Given the description of an element on the screen output the (x, y) to click on. 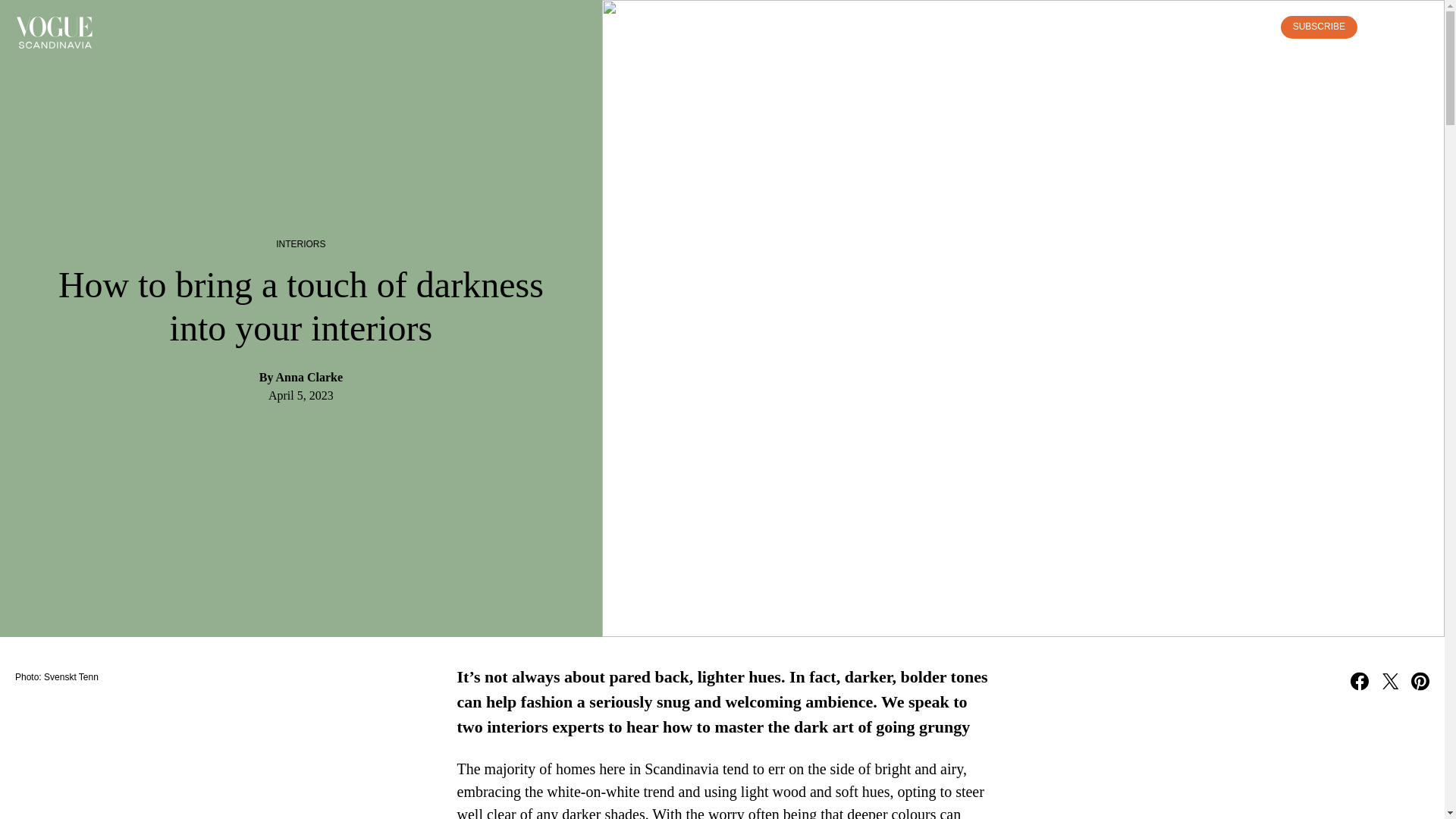
SUBSCRIBE (1318, 26)
By Anna Clarke (300, 377)
LOGIN (1247, 26)
